Given the description of an element on the screen output the (x, y) to click on. 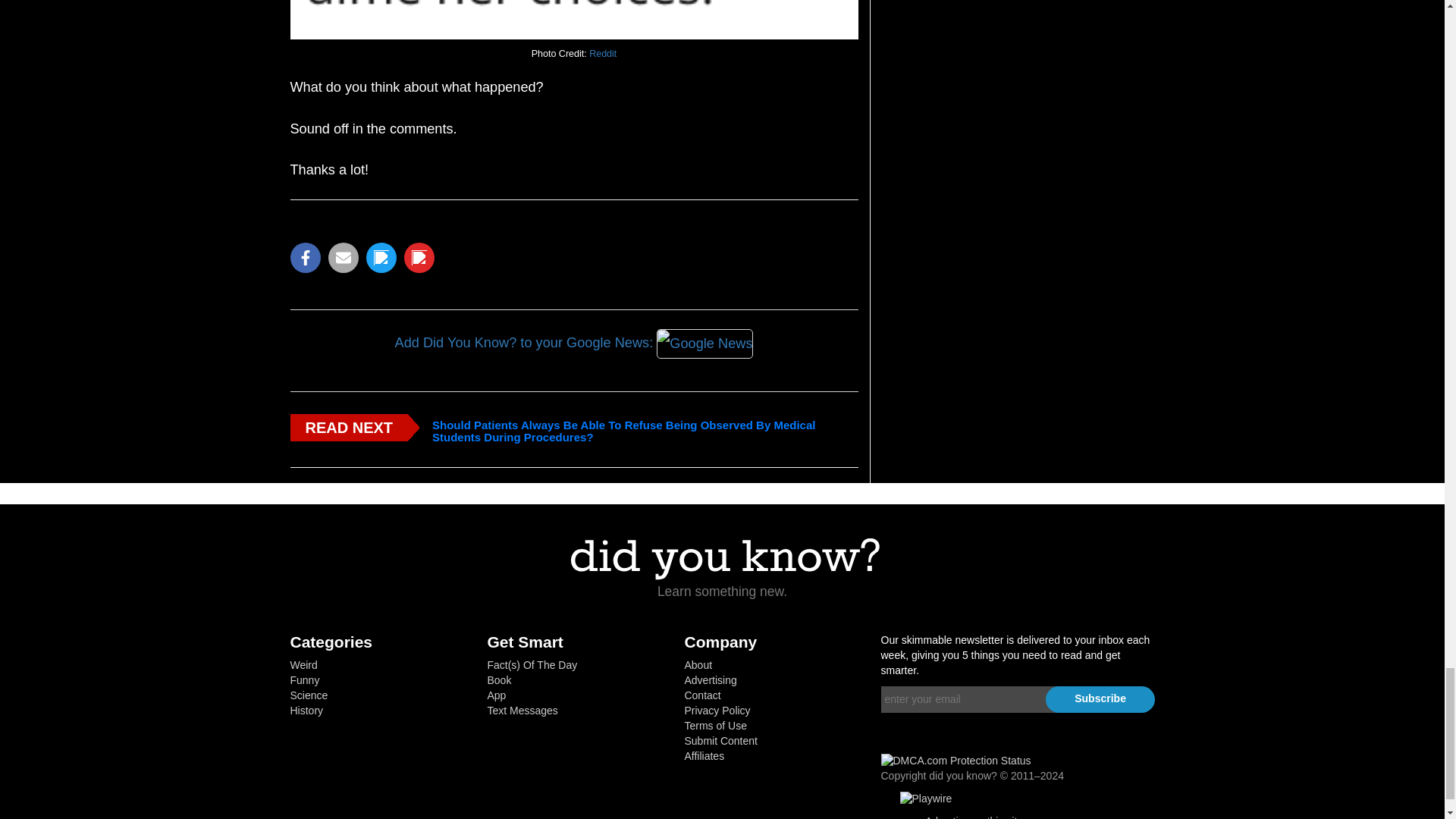
Google News (704, 343)
Add Did You Know? to your Google News: (573, 343)
Subscribe (1100, 699)
Reddit (602, 53)
DMCA.com Protection Status (955, 760)
READ NEXT (348, 427)
